Given the description of an element on the screen output the (x, y) to click on. 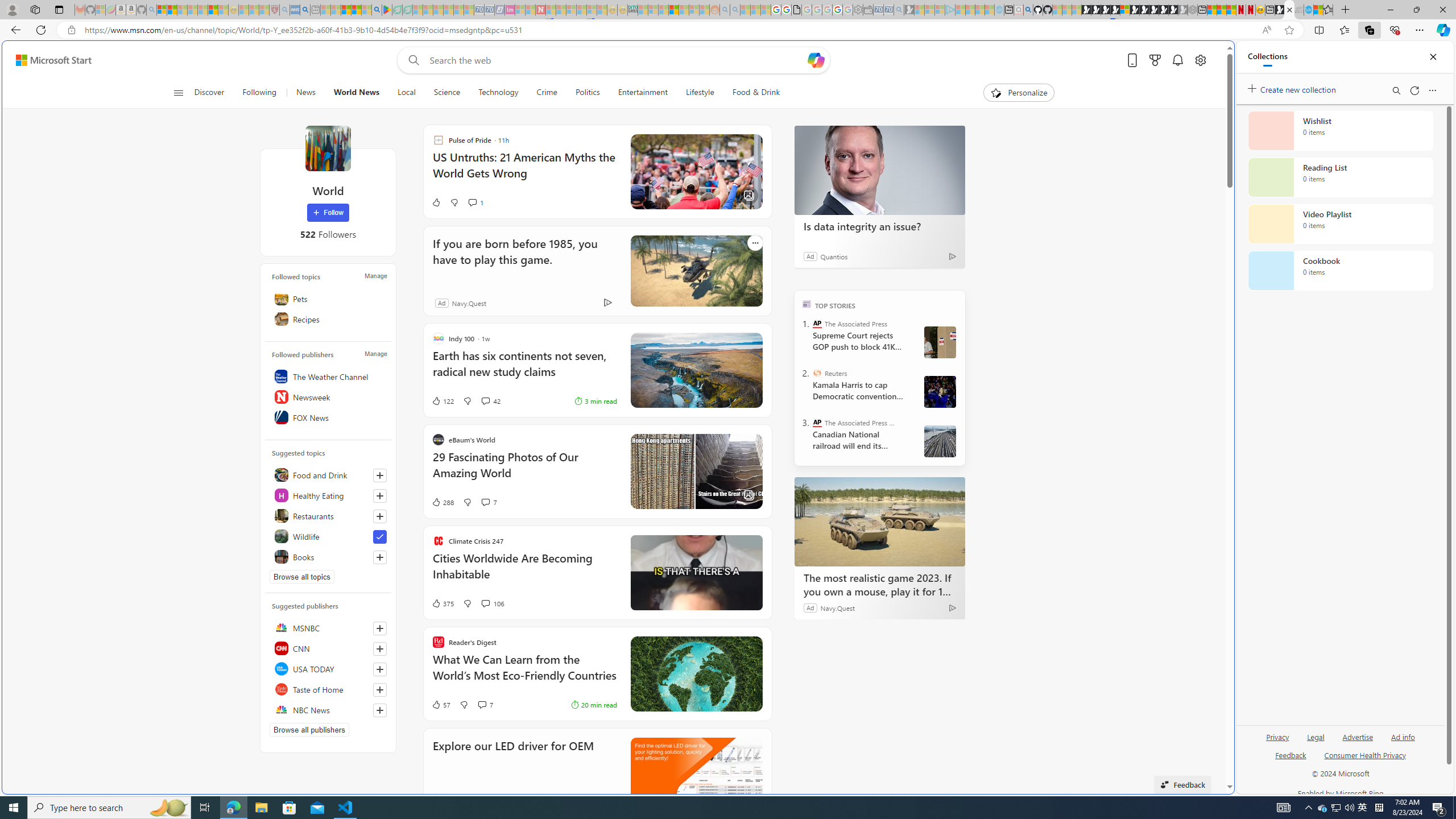
Create new collection (1293, 87)
